Given the description of an element on the screen output the (x, y) to click on. 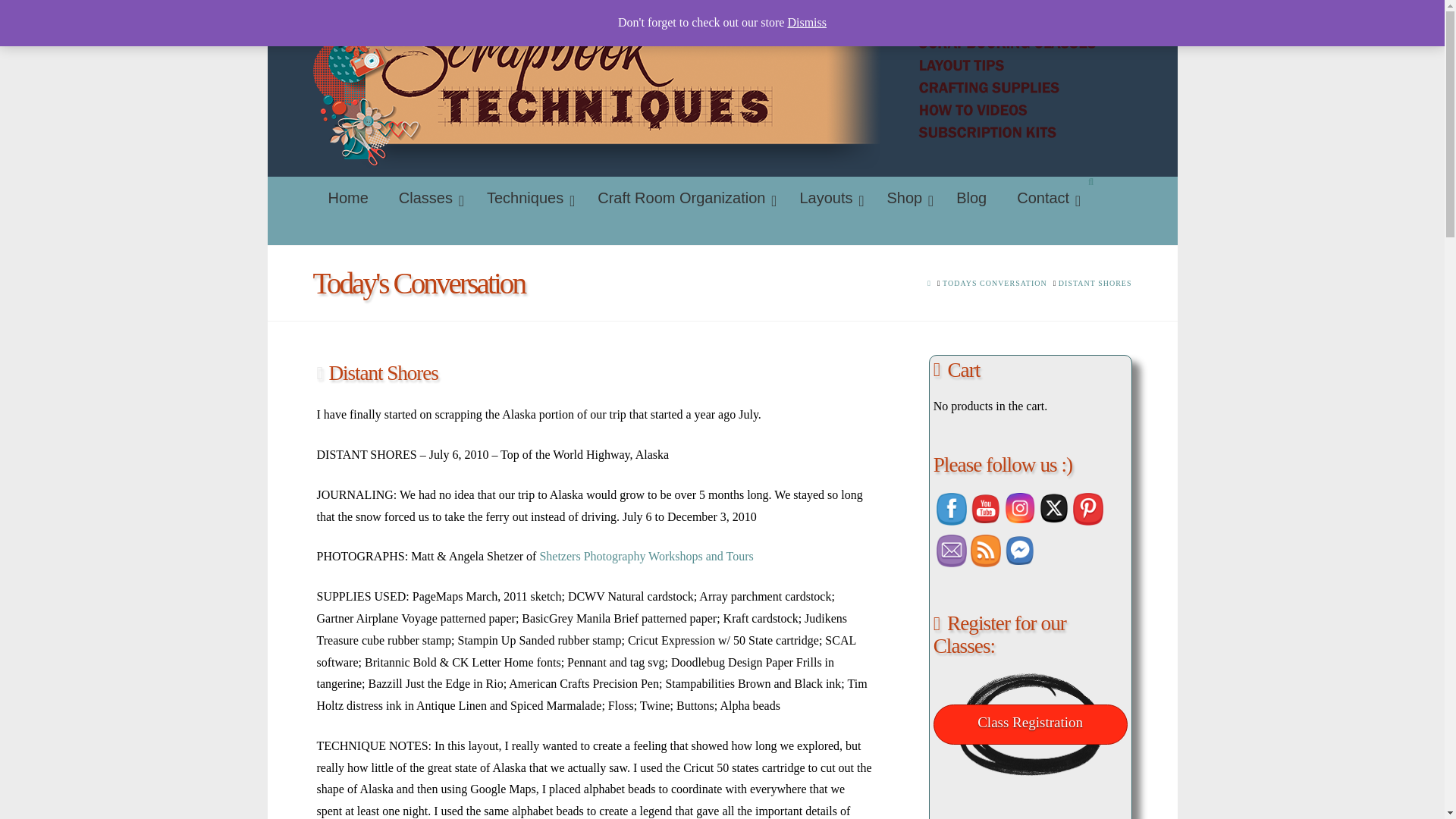
Home (347, 197)
Craft Room Organization (683, 197)
Techniques (526, 197)
Classes (427, 197)
You Are Here (1095, 283)
